Given the description of an element on the screen output the (x, y) to click on. 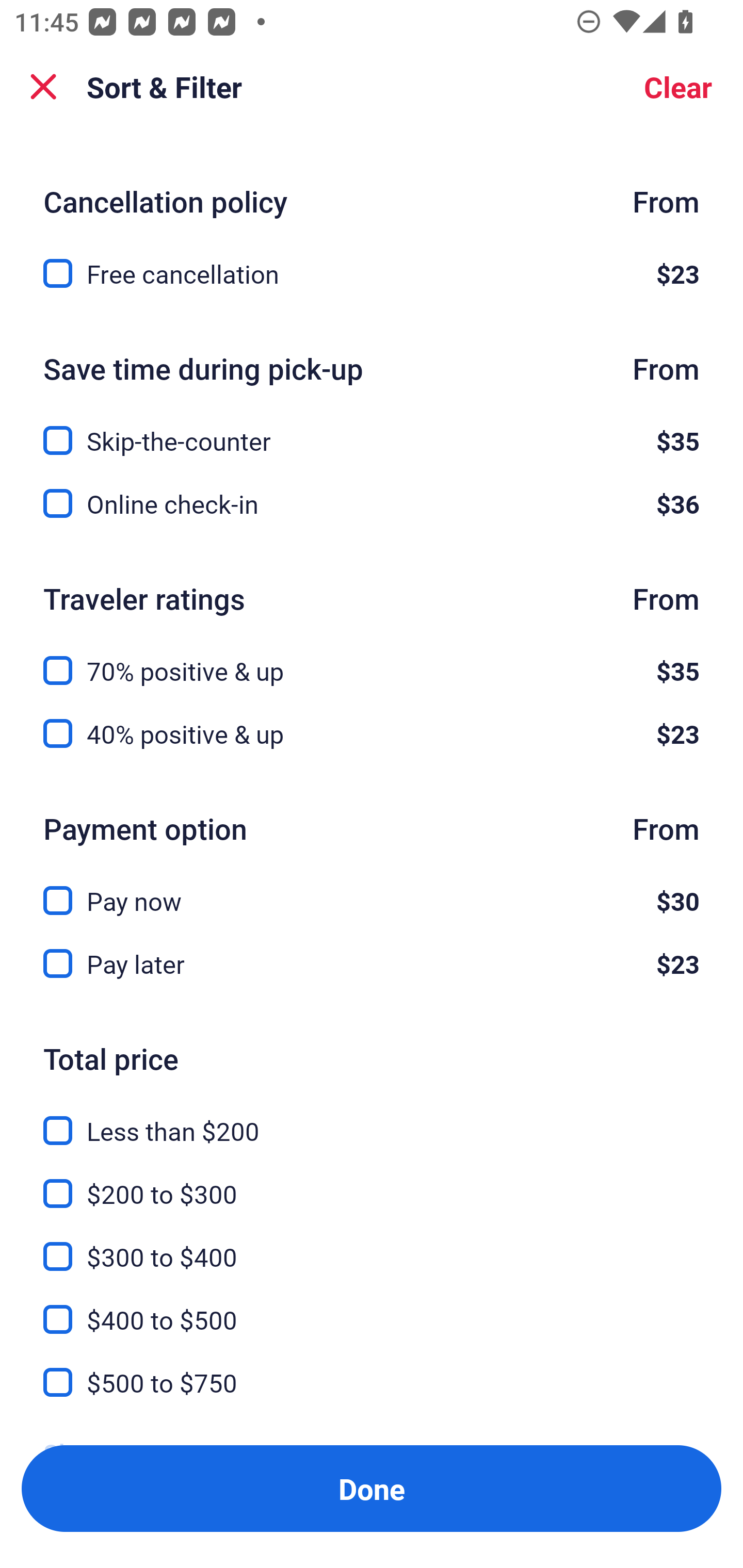
Close Sort and Filter (43, 86)
Clear (677, 86)
Free cancellation, $23 Free cancellation $23 (371, 273)
Skip-the-counter, $35 Skip-the-counter $35 (371, 429)
Online check-in, $36 Online check-in $36 (371, 503)
70% positive & up, $35 70% positive & up $35 (371, 658)
40% positive & up, $23 40% positive & up $23 (371, 733)
Pay now, $30 Pay now $30 (371, 888)
Pay later, $23 Pay later $23 (371, 963)
Less than $200, Less than $200 (371, 1119)
$200 to $300, $200 to $300 (371, 1181)
$300 to $400, $300 to $400 (371, 1244)
$400 to $500, $400 to $500 (371, 1307)
$500 to $750, $500 to $750 (371, 1382)
Apply and close Sort and Filter Done (371, 1488)
